Given the description of an element on the screen output the (x, y) to click on. 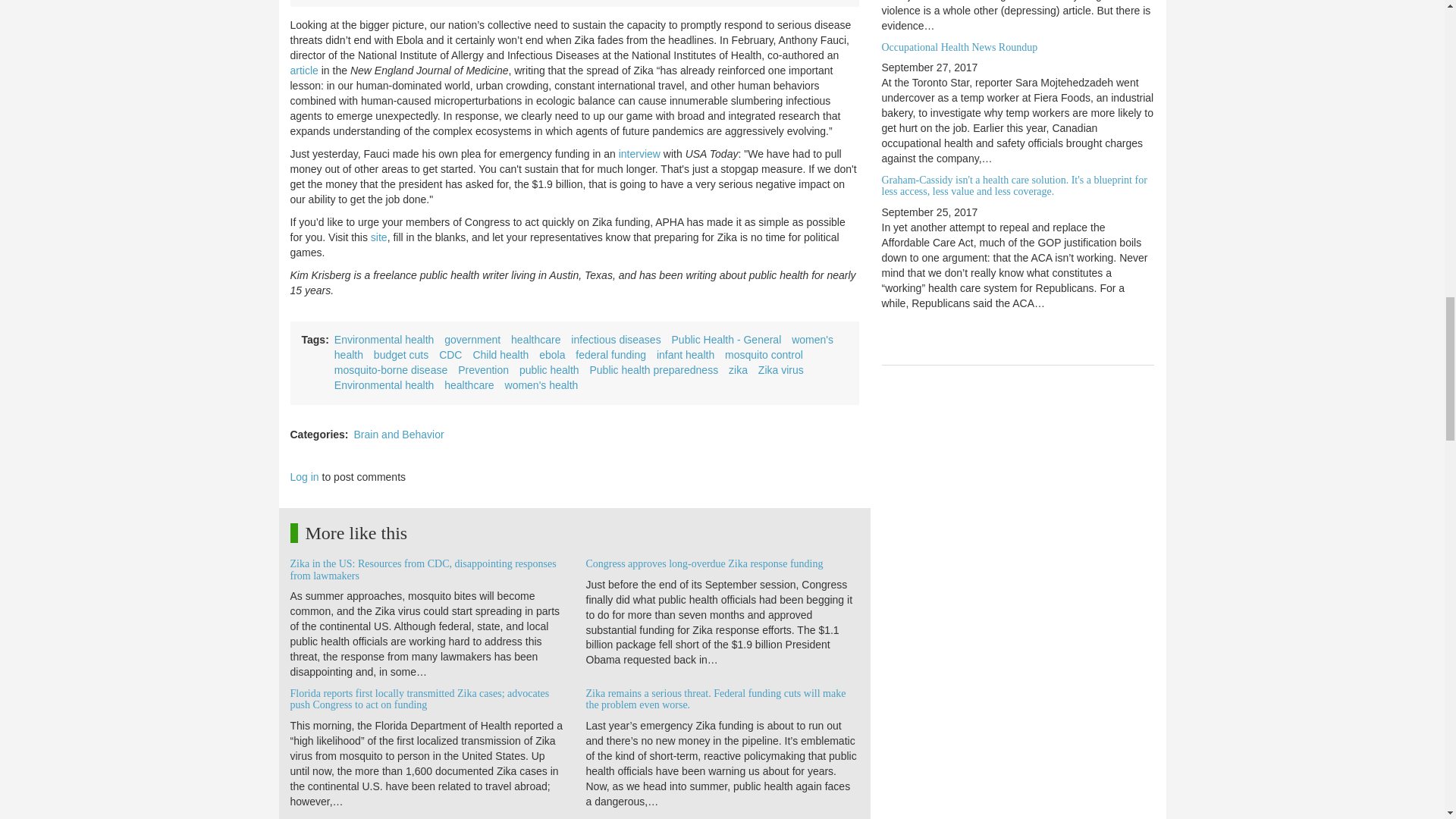
government (472, 339)
Environmental health (383, 339)
article (303, 70)
healthcare (535, 339)
infectious diseases (615, 339)
site (379, 236)
interview (639, 153)
Public Health - General (726, 339)
